Given the description of an element on the screen output the (x, y) to click on. 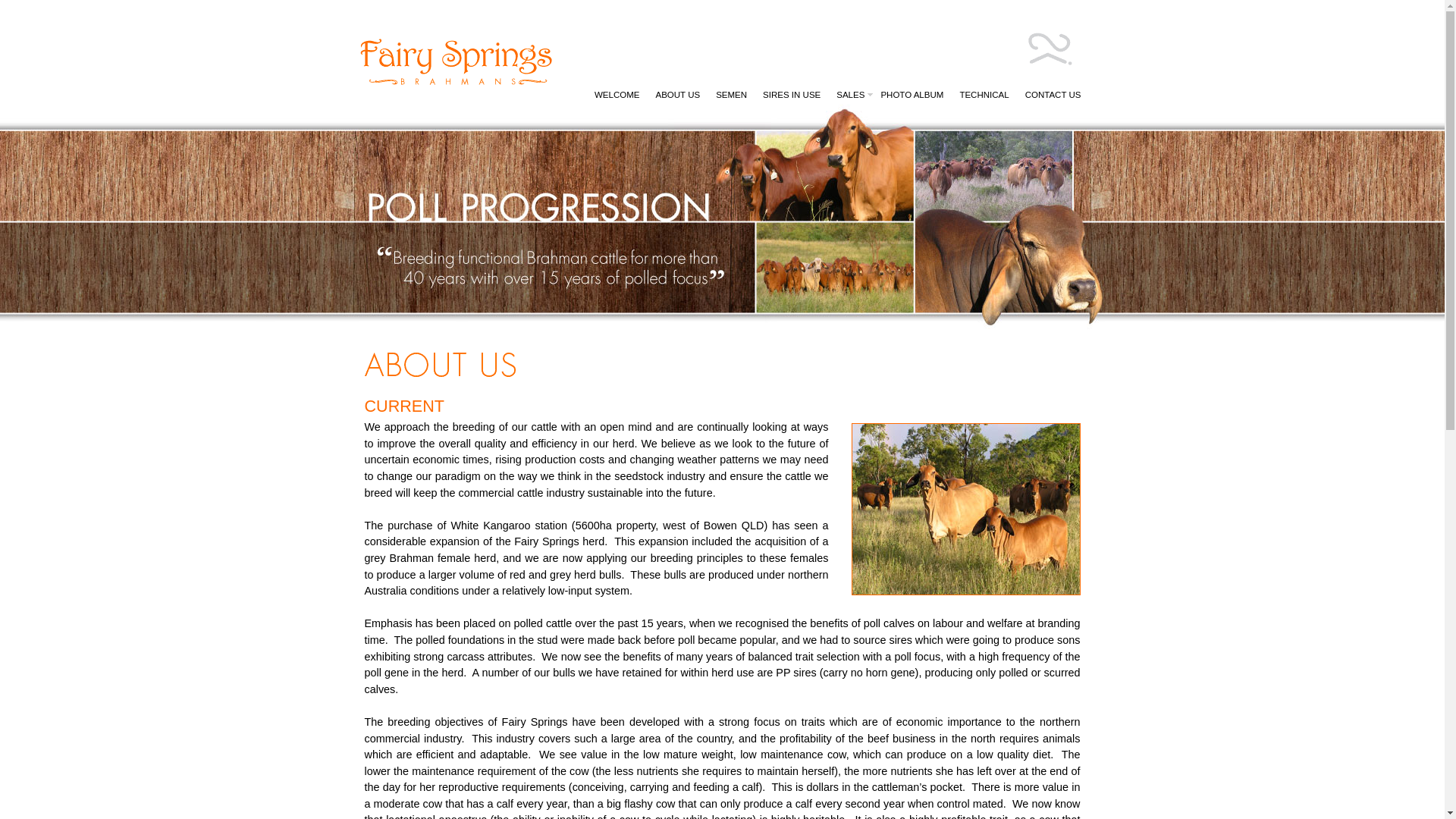
FAIRY SPRINGS BRAHMANS Element type: hover (454, 42)
FAIRY SPRINGS BRAHMANS BRAND Element type: hover (1049, 32)
SALES Element type: text (853, 94)
TECHNICAL Element type: text (986, 94)
ABOUT US Element type: text (679, 94)
PHOTO ALBUM Element type: text (914, 94)
CONTACT US Element type: text (1055, 94)
SEMEN Element type: text (734, 94)
FAIRY SPRINGS RED BRAHMAN COWS Element type: hover (965, 590)
SIRES IN USE Element type: text (794, 94)
WELCOME Element type: text (618, 94)
